Given the description of an element on the screen output the (x, y) to click on. 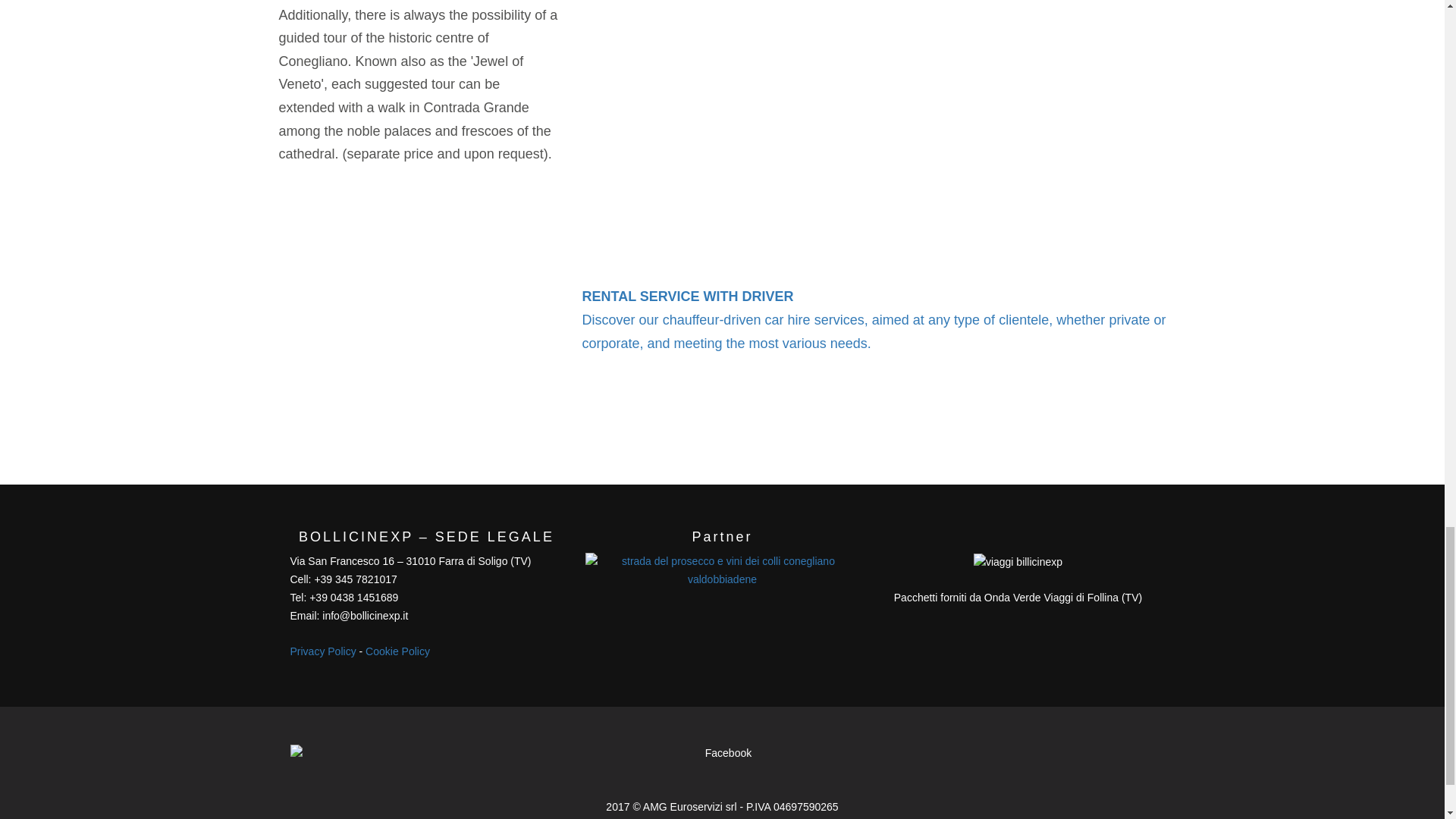
Cookie Policy  (397, 651)
Privacy Policy (322, 651)
Cookie Policy (397, 651)
Privacy Policy  (322, 651)
Facebook (721, 760)
